Given the description of an element on the screen output the (x, y) to click on. 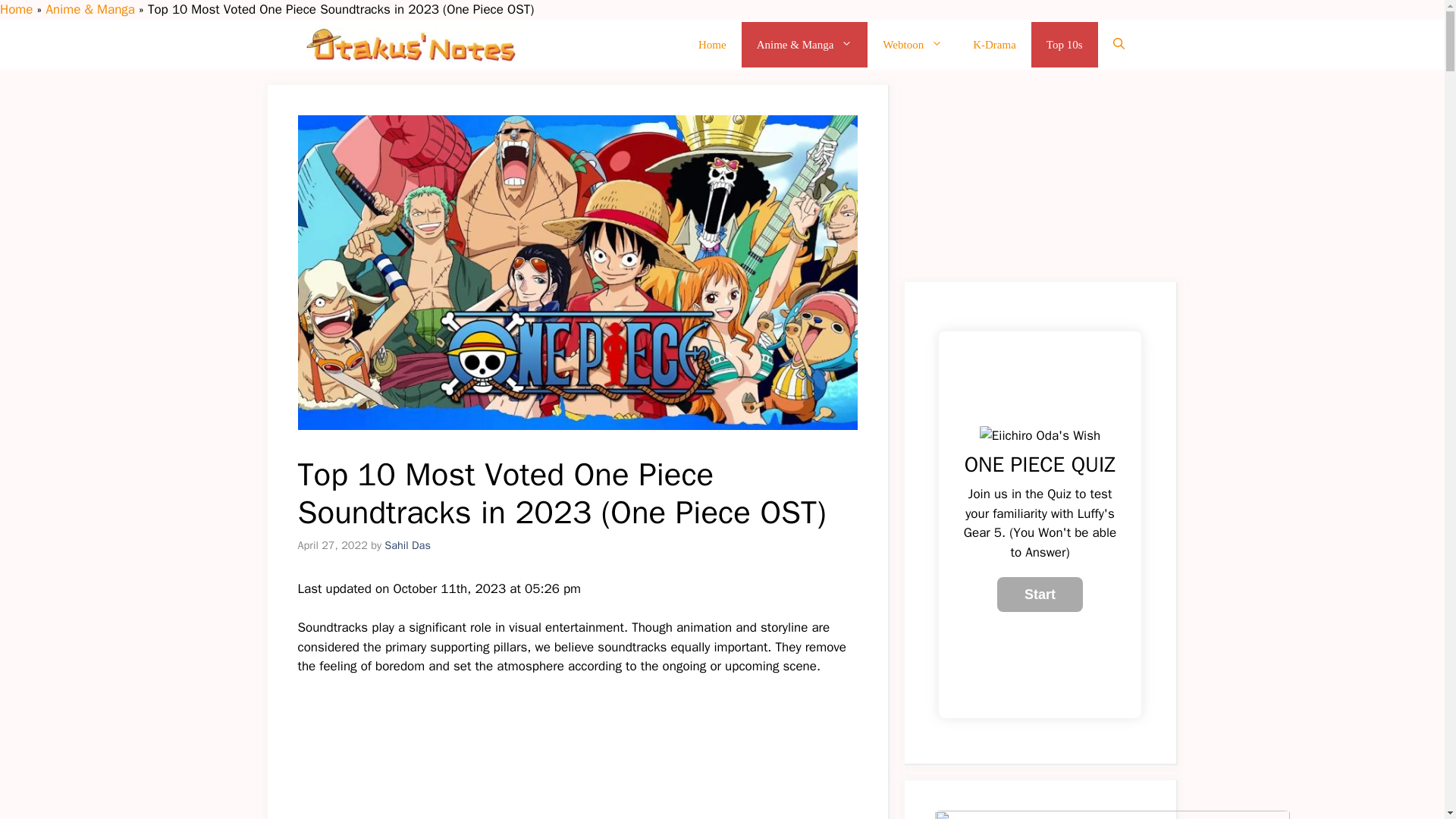
View all posts by Sahil Das (407, 545)
Home (16, 9)
OtakusNotes (409, 44)
Webtoon (912, 43)
Home (711, 43)
Start (1040, 594)
Sahil Das (407, 545)
K-Drama (994, 43)
Top 10s (1063, 43)
